Given the description of an element on the screen output the (x, y) to click on. 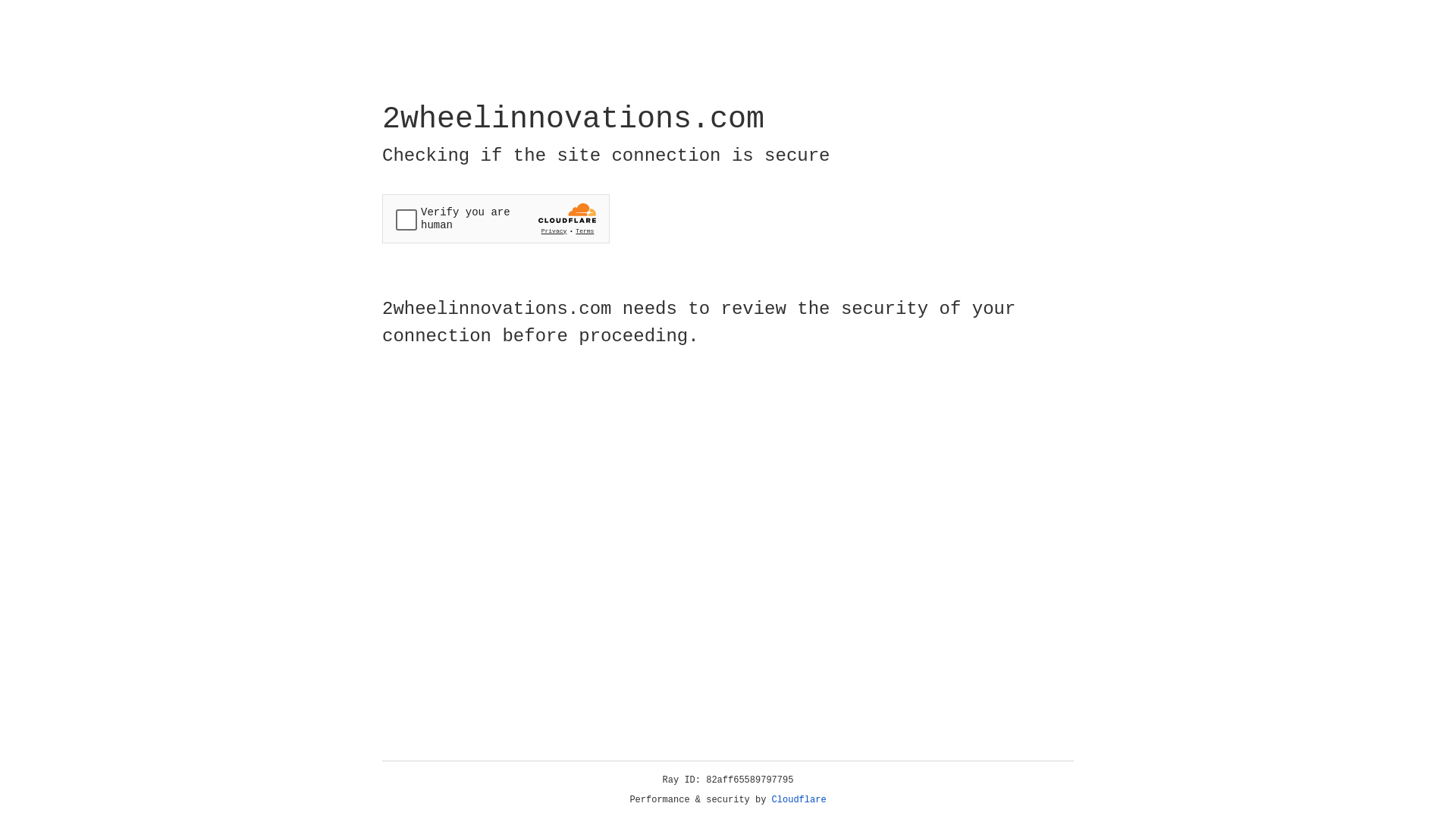
Cloudflare Element type: text (798, 799)
Widget containing a Cloudflare security challenge Element type: hover (495, 218)
